Given the description of an element on the screen output the (x, y) to click on. 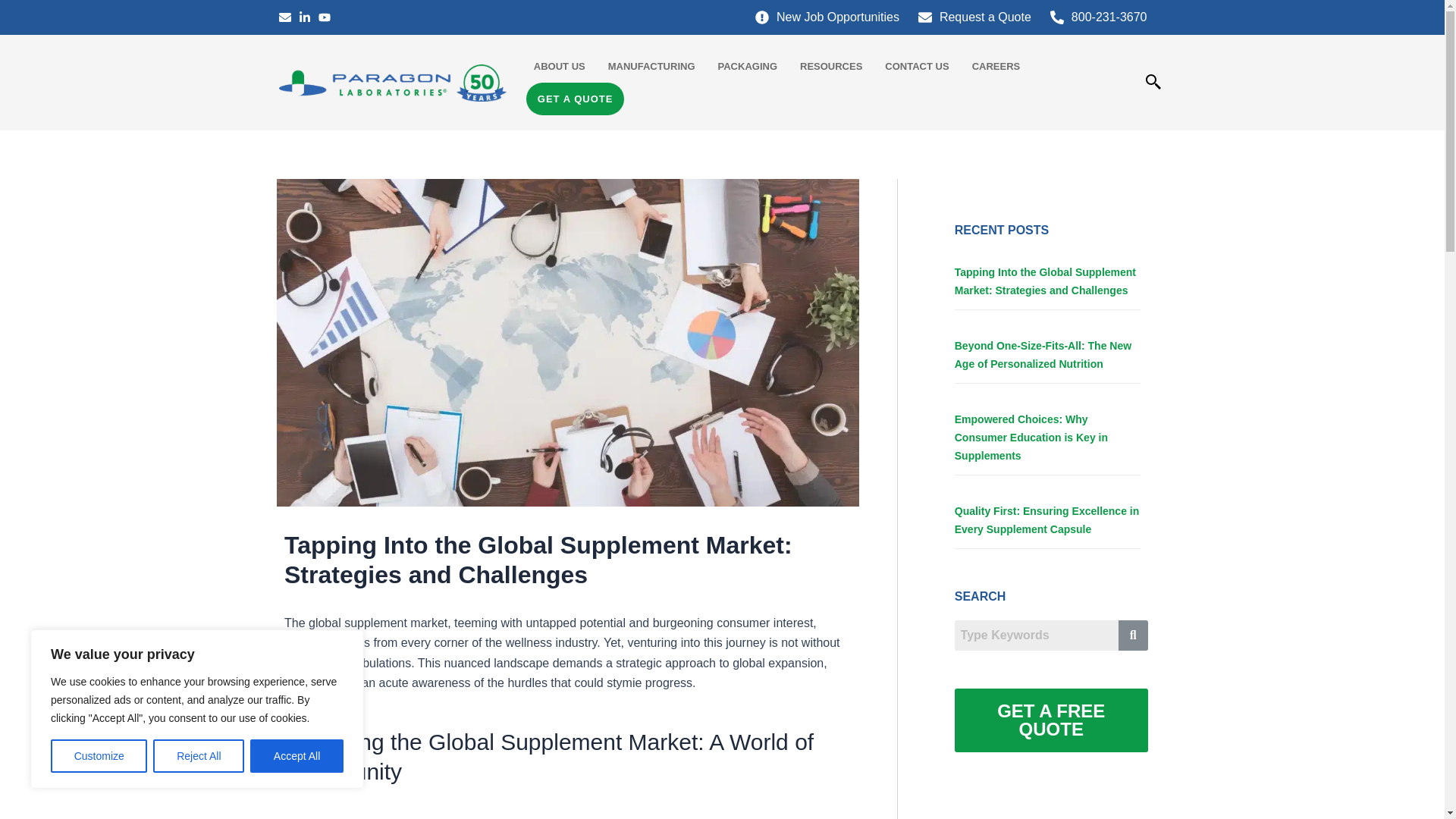
MANUFACTURING (651, 65)
Reject All (198, 756)
ABOUT US (559, 65)
Envelope (285, 17)
Accept All (296, 756)
Linkedin-in (304, 17)
PACKAGING (747, 65)
RESOURCES (831, 65)
Youtube (324, 17)
Customize (98, 756)
Search (1036, 634)
